Given the description of an element on the screen output the (x, y) to click on. 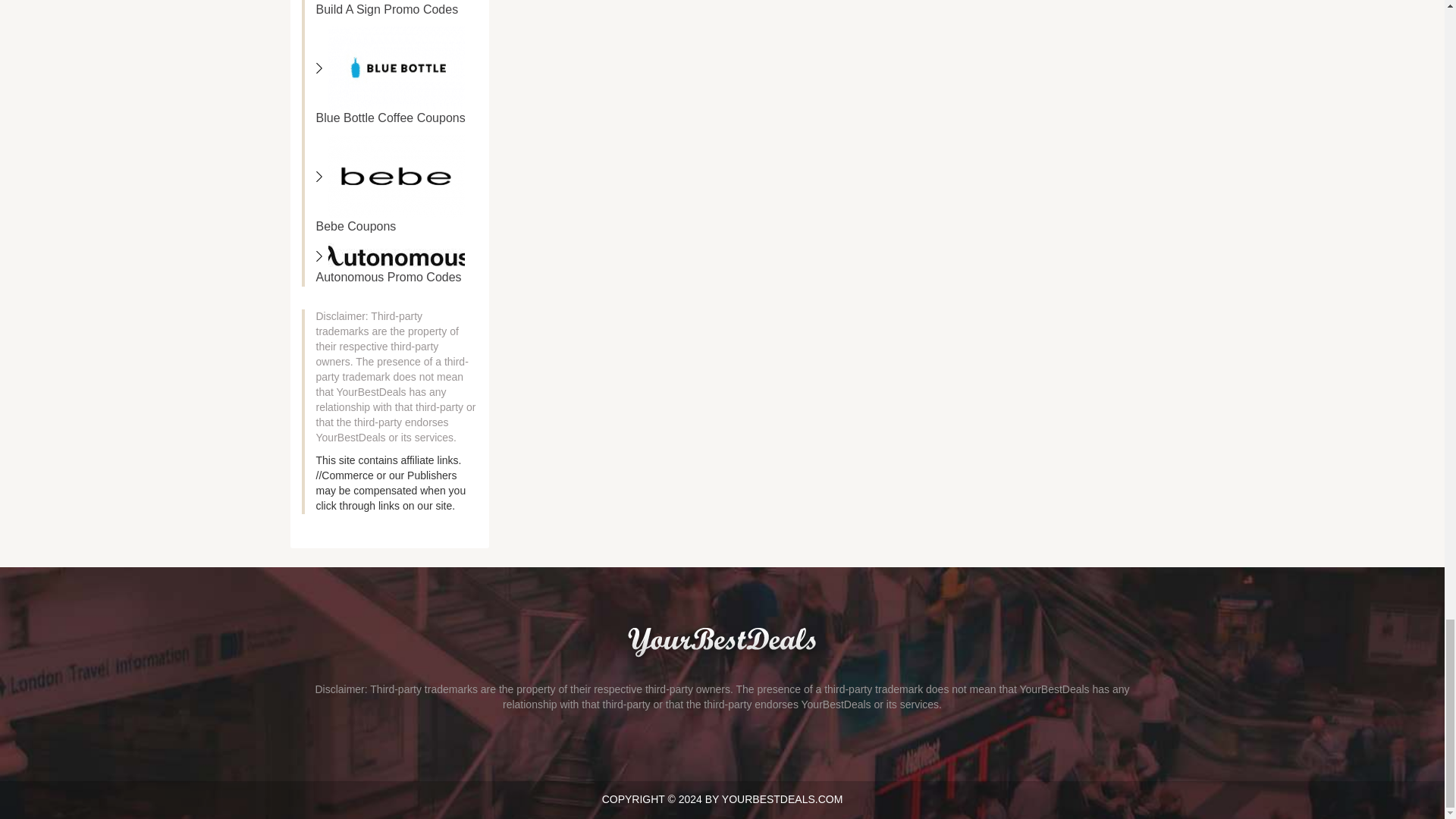
YourBestDeals (721, 640)
